Given the description of an element on the screen output the (x, y) to click on. 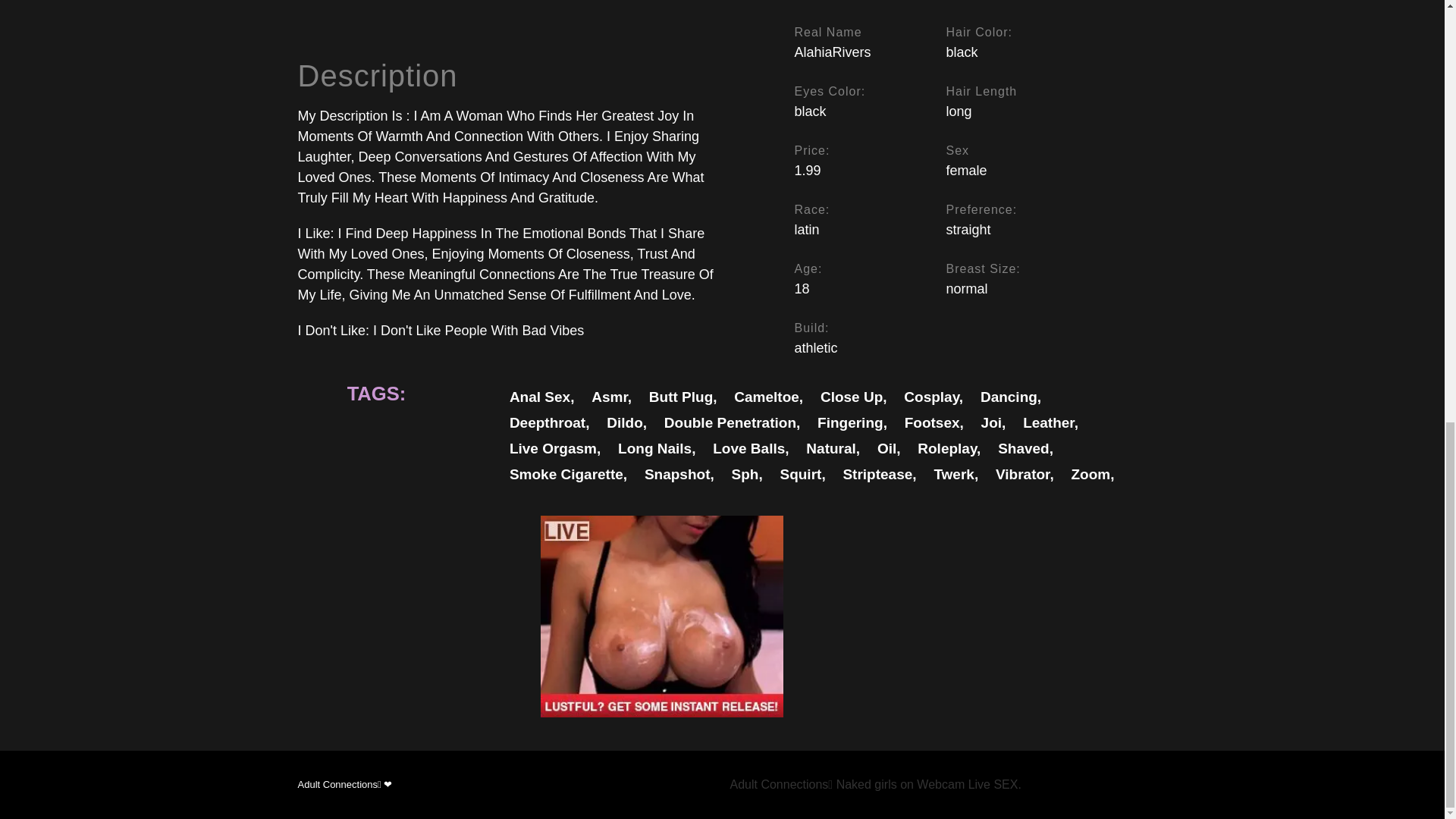
Anal Sex (542, 396)
